Given the description of an element on the screen output the (x, y) to click on. 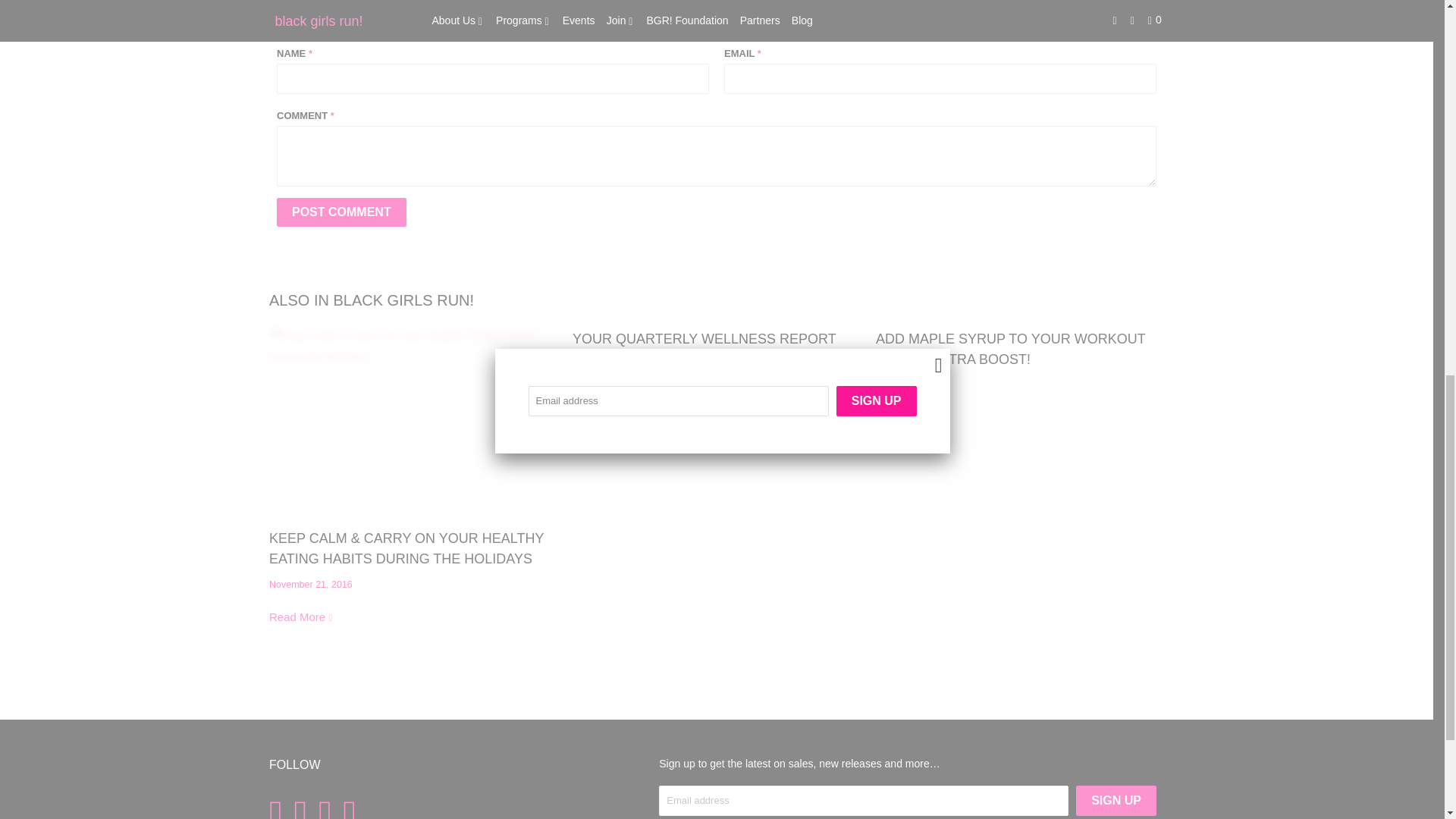
Your Quarterly Wellness Report (703, 338)
Sign Up (1115, 800)
Add Maple Syrup to Your Workout for an Extra Boost! (1010, 348)
Post comment (341, 212)
Your Quarterly Wellness Report (604, 396)
Add Maple Syrup to Your Workout for an Extra Boost! (908, 417)
Black Girls RUN! on Twitter (279, 807)
